Given the description of an element on the screen output the (x, y) to click on. 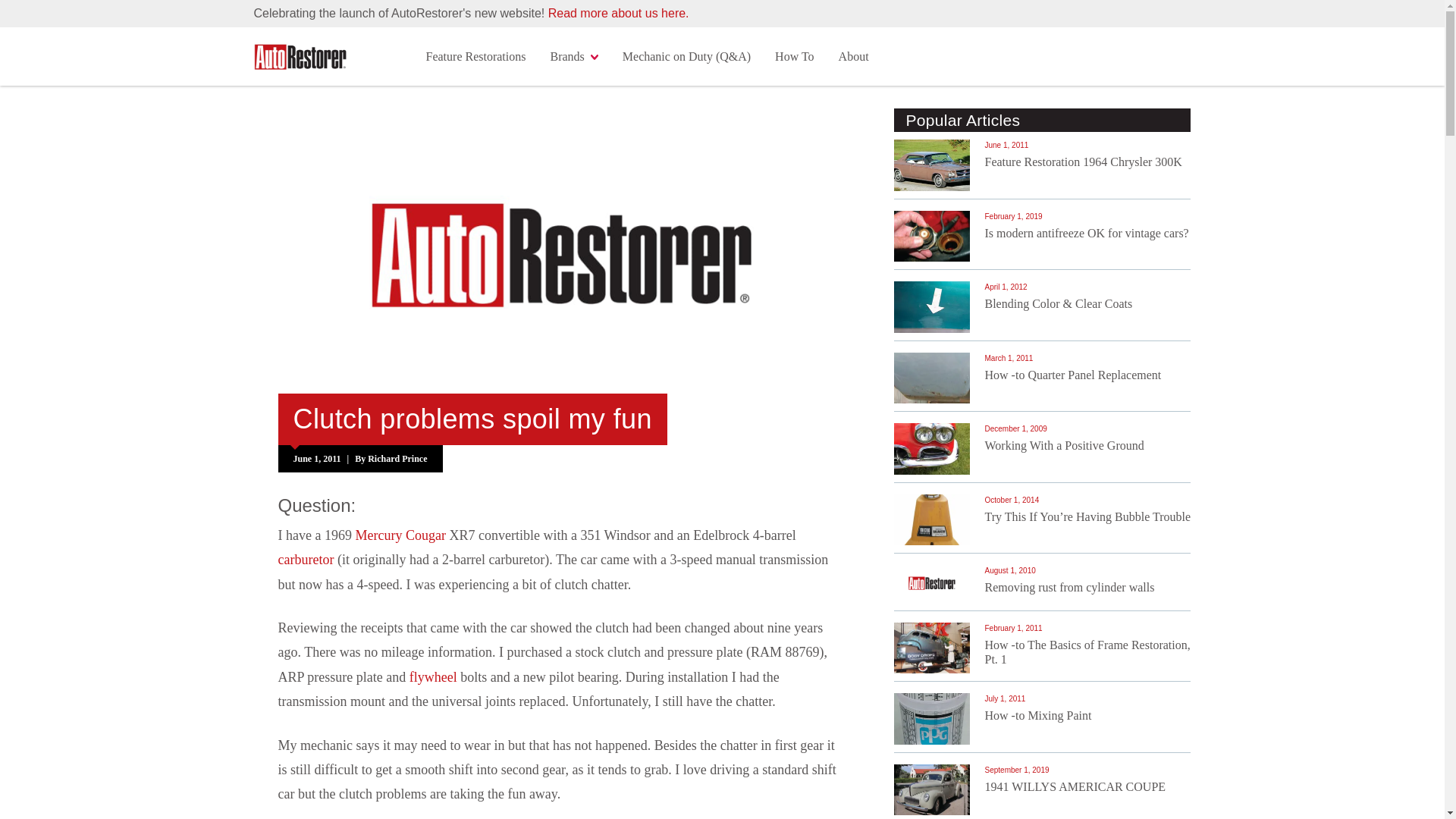
Read more about us here. (618, 12)
carburetor (305, 559)
Brands (573, 56)
How To (793, 56)
About (853, 56)
Mercury Cougar (400, 534)
flywheel (433, 676)
Feature Restorations (475, 56)
